Given the description of an element on the screen output the (x, y) to click on. 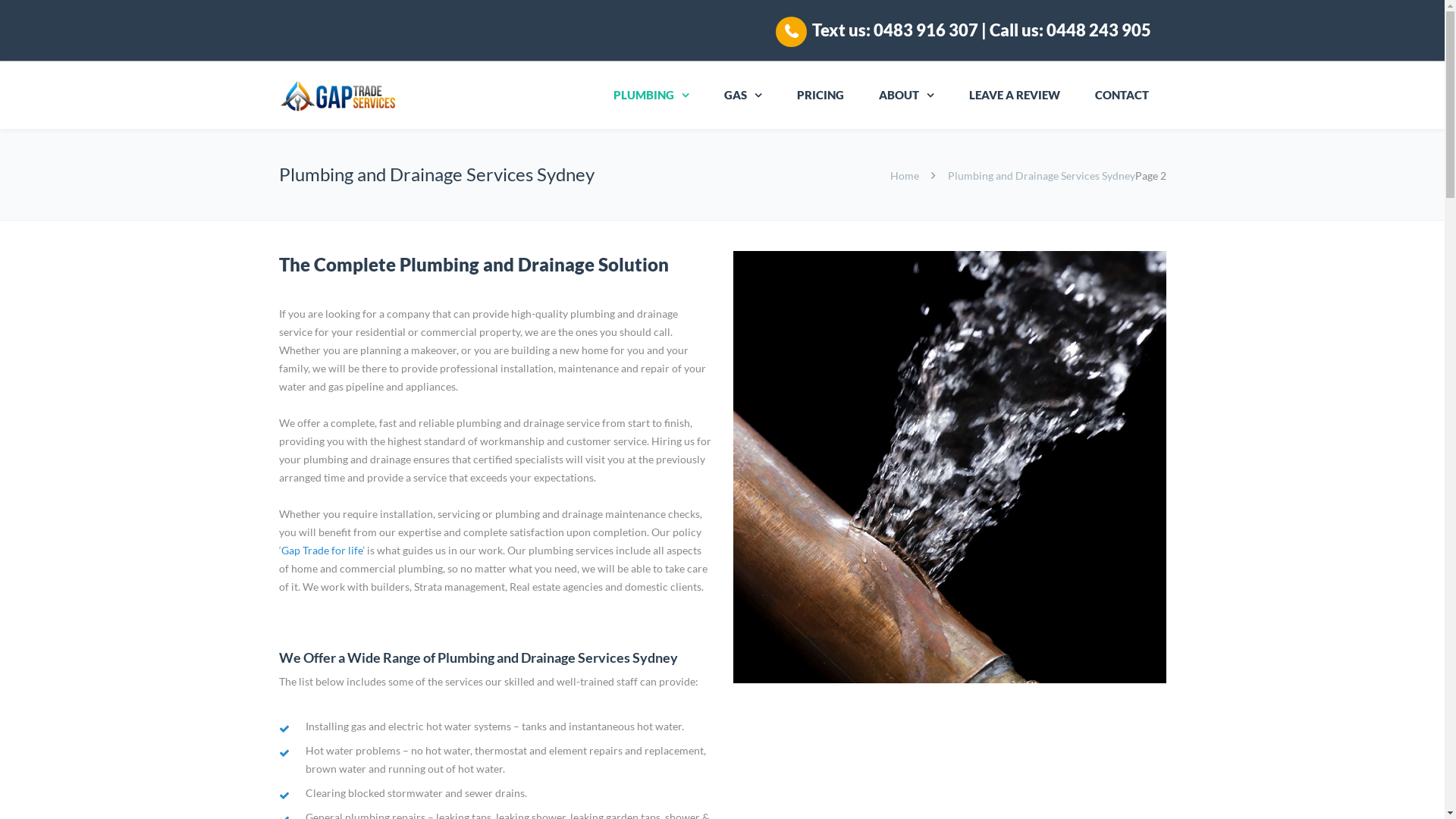
LEAVE A REVIEW Element type: text (1013, 94)
PLUMBING Element type: text (651, 94)
CONTACT Element type: text (1120, 94)
ABOUT Element type: text (906, 94)
GAS Element type: text (742, 94)
Gap Trade for life Element type: text (320, 549)
PRICING Element type: text (820, 94)
0483 916 307 Element type: text (925, 29)
Home Element type: text (904, 175)
Burst pipe Sydney plumber needed Element type: hover (949, 467)
0448 243 905 Element type: text (1098, 29)
